Given the description of an element on the screen output the (x, y) to click on. 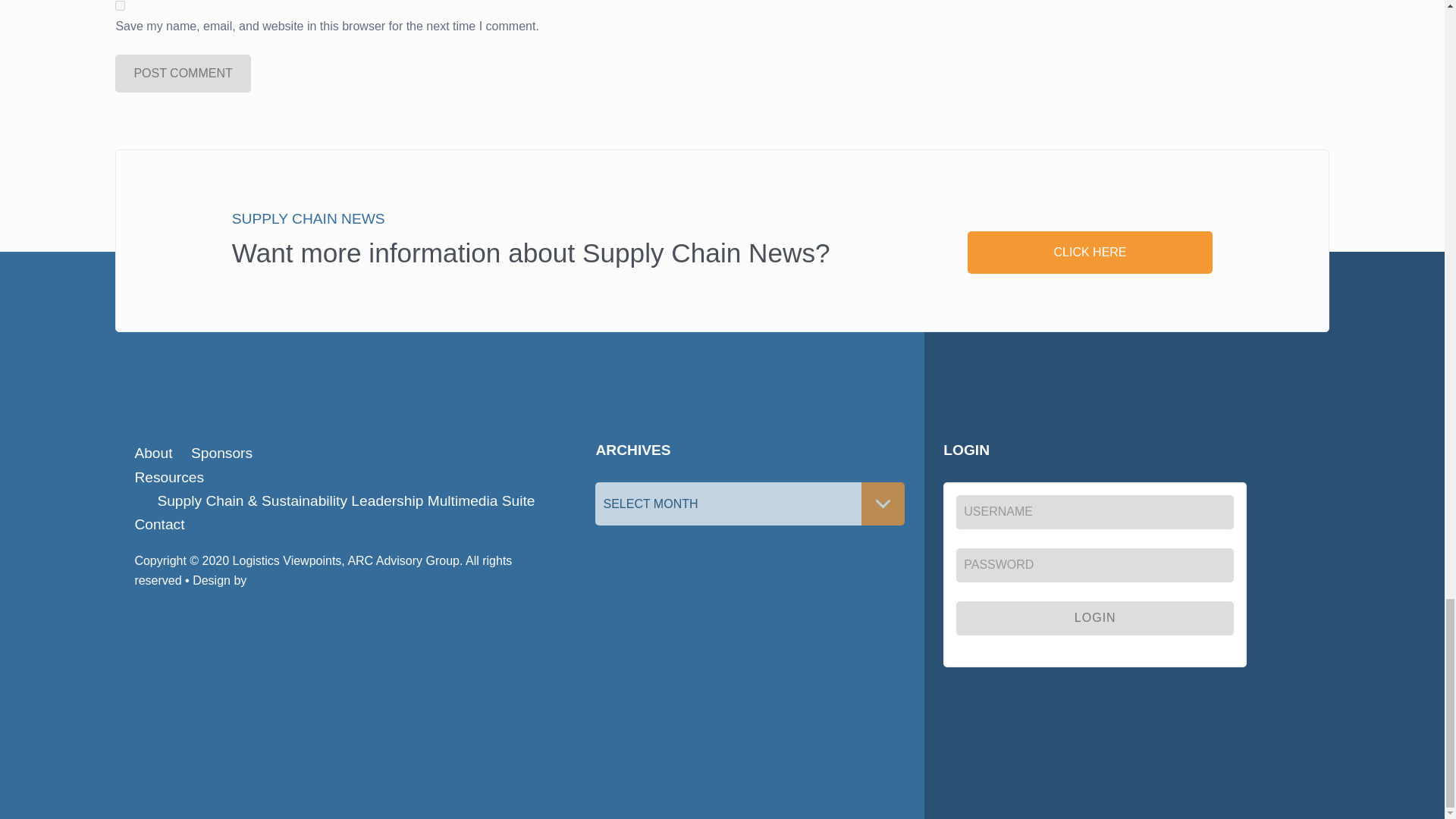
yes (120, 5)
Please enter username (1094, 512)
Login (1094, 618)
Post Comment (182, 73)
Please enter password (1094, 564)
